Given the description of an element on the screen output the (x, y) to click on. 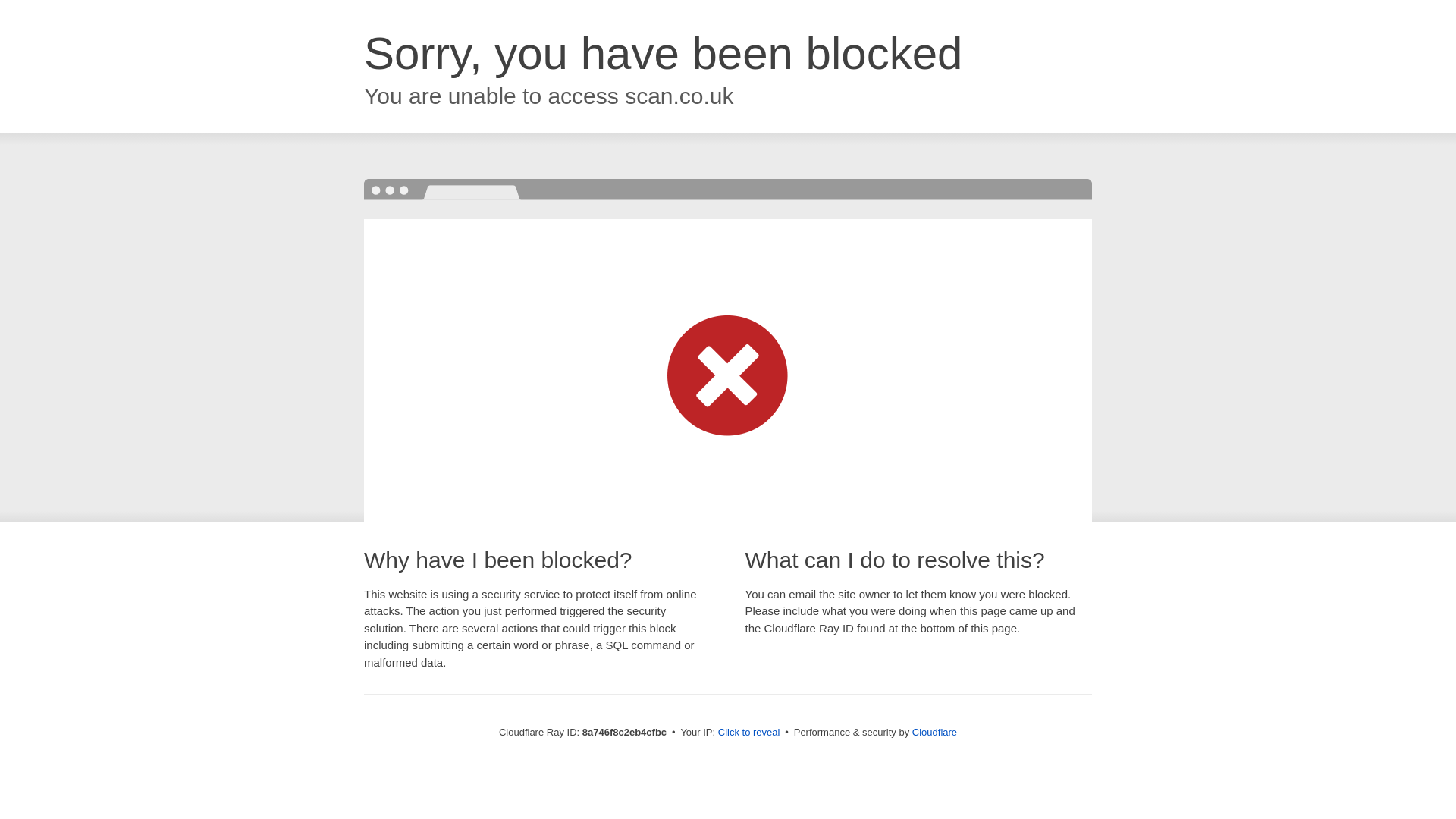
Click to reveal (748, 732)
Cloudflare (934, 731)
